Given the description of an element on the screen output the (x, y) to click on. 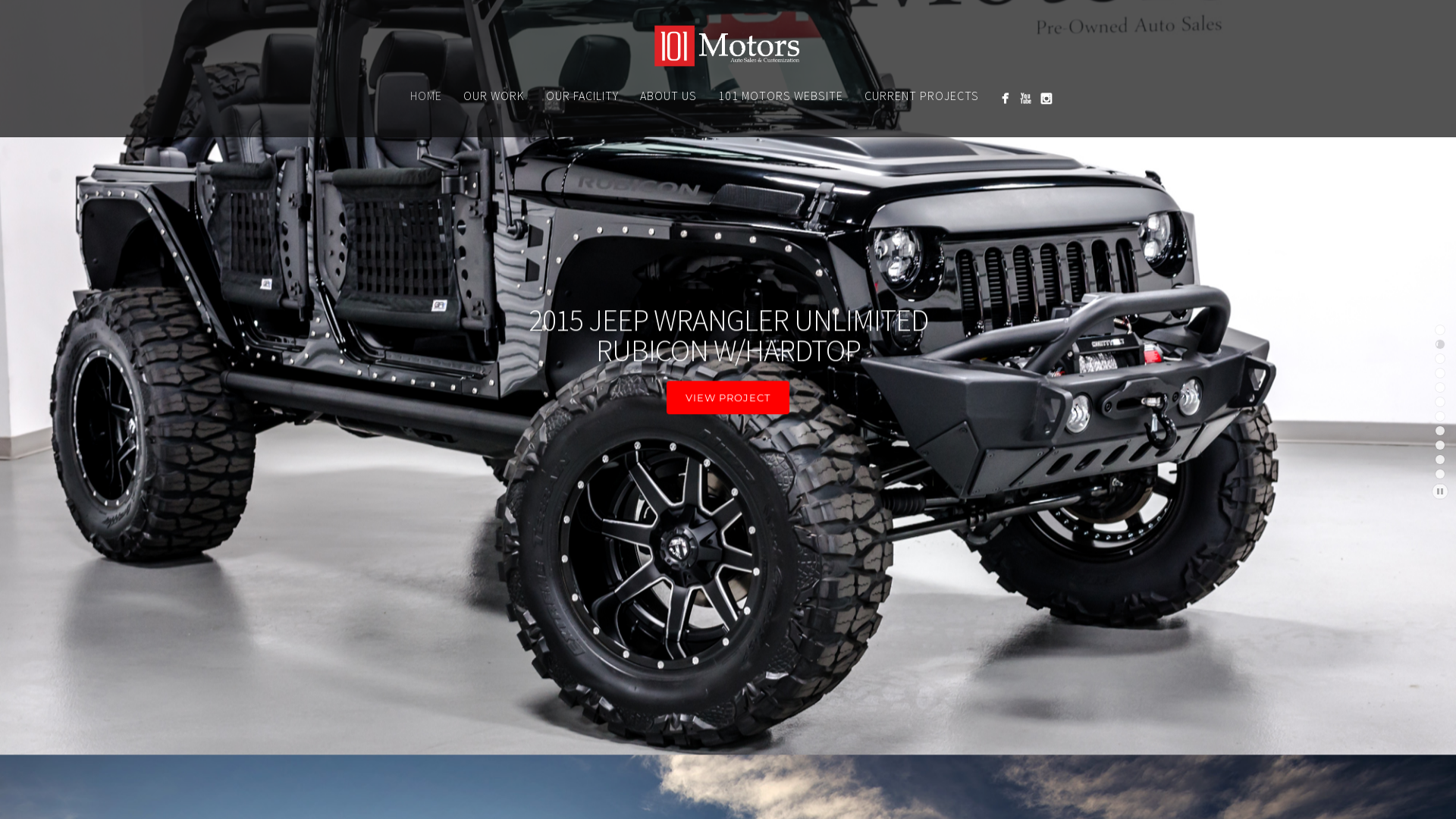
101 MOTORS WEBSITE Element type: text (779, 95)
ABOUT US Element type: text (668, 95)
CURRENT PROJECTS Element type: text (921, 95)
Facebook Element type: hover (1003, 97)
OUR WORK Element type: text (492, 95)
VIEW PROJECT Element type: text (727, 461)
OUR FACILITY Element type: text (582, 95)
HOME Element type: text (424, 95)
